Given the description of an element on the screen output the (x, y) to click on. 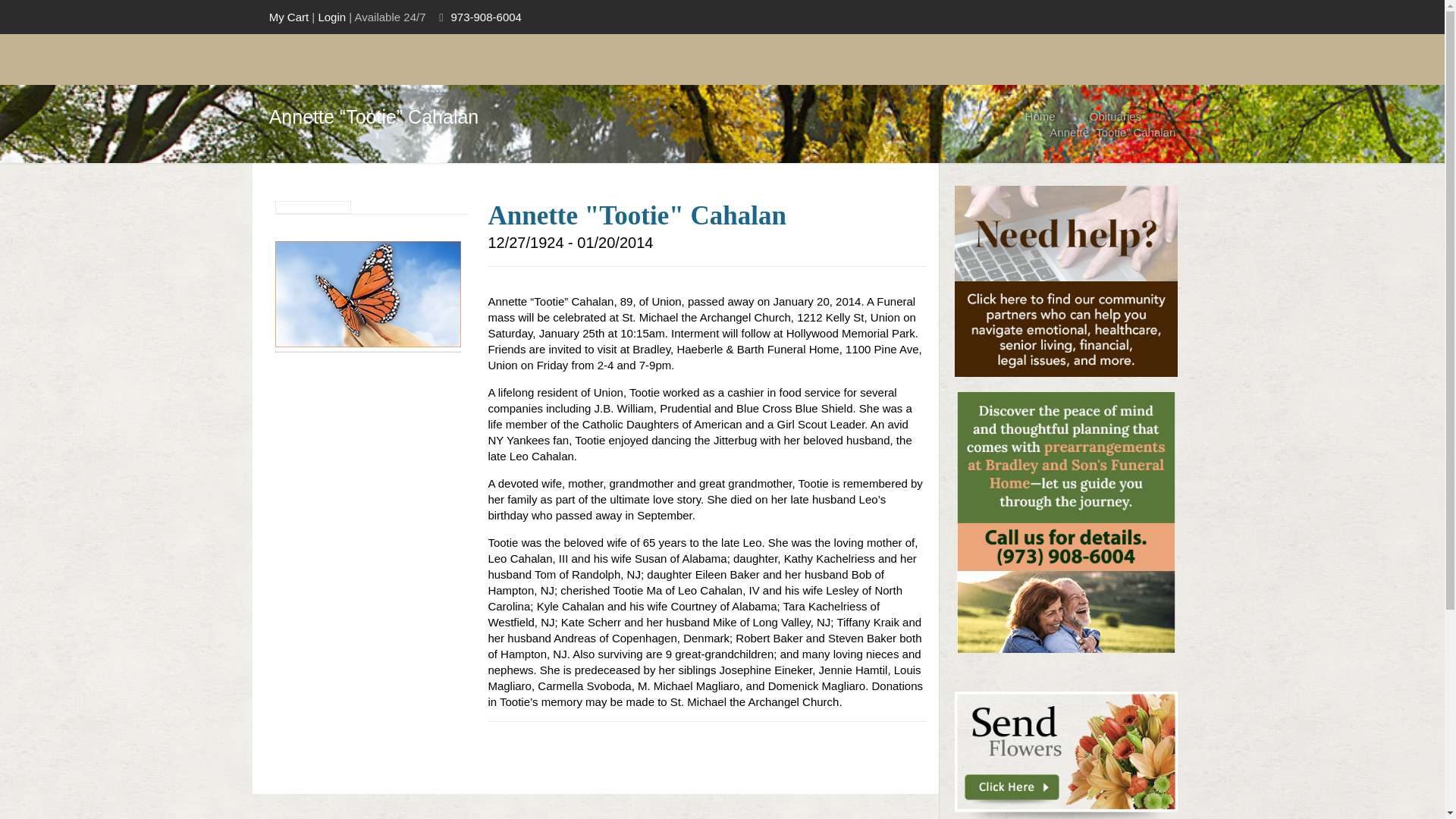
My Cart (288, 16)
Login (331, 16)
973-908-6004 (485, 16)
Login (331, 16)
